Given the description of an element on the screen output the (x, y) to click on. 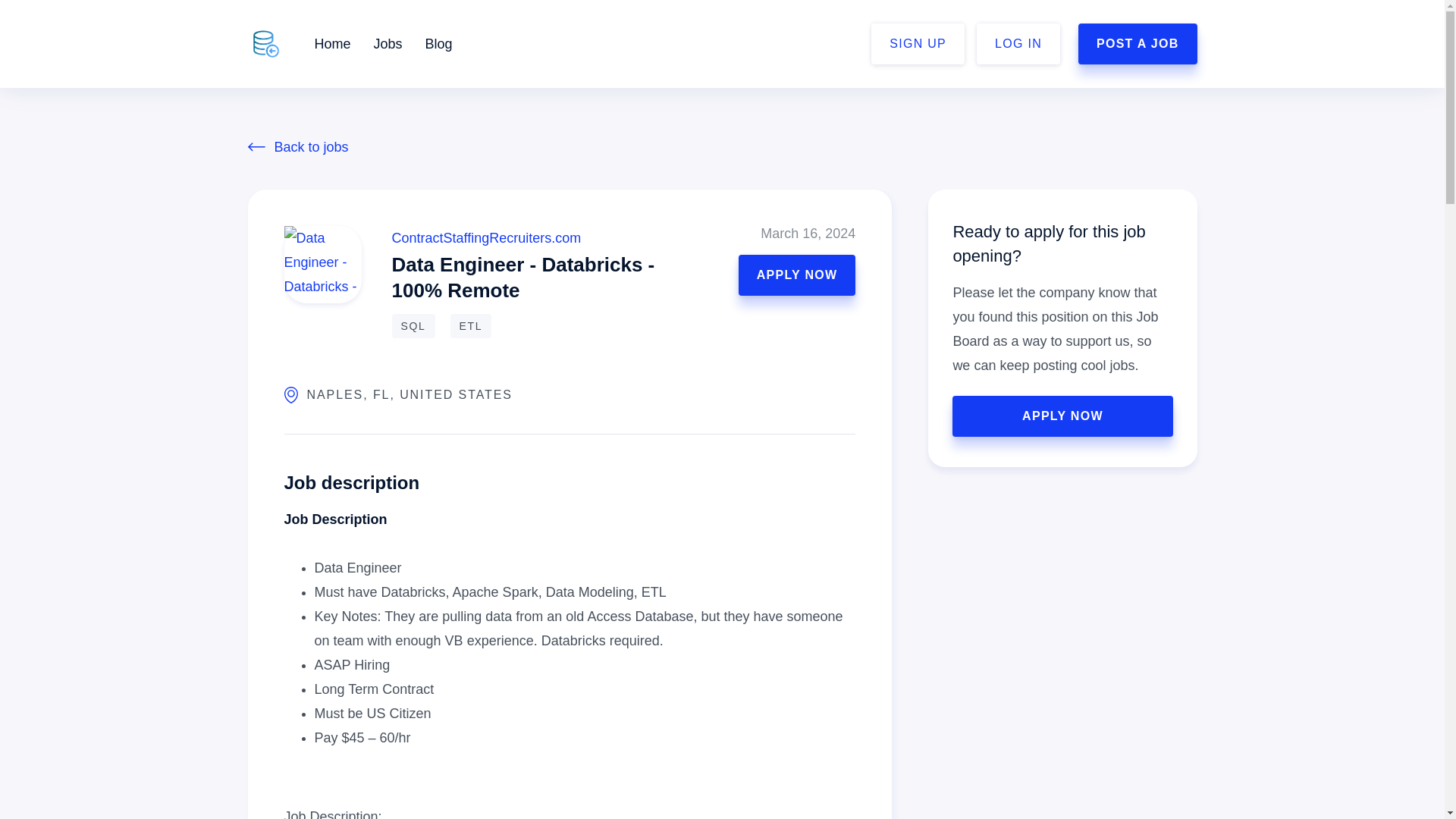
APPLY NOW (1062, 415)
ContractStaffingRecruiters.com (485, 237)
ETL (470, 325)
Home (332, 43)
SQL (412, 325)
Blog (438, 43)
POST A JOB (1137, 43)
Back to jobs (721, 146)
Jobs (388, 43)
LOG IN (1017, 43)
APPLY NOW (797, 274)
SIGN UP (916, 43)
